Given the description of an element on the screen output the (x, y) to click on. 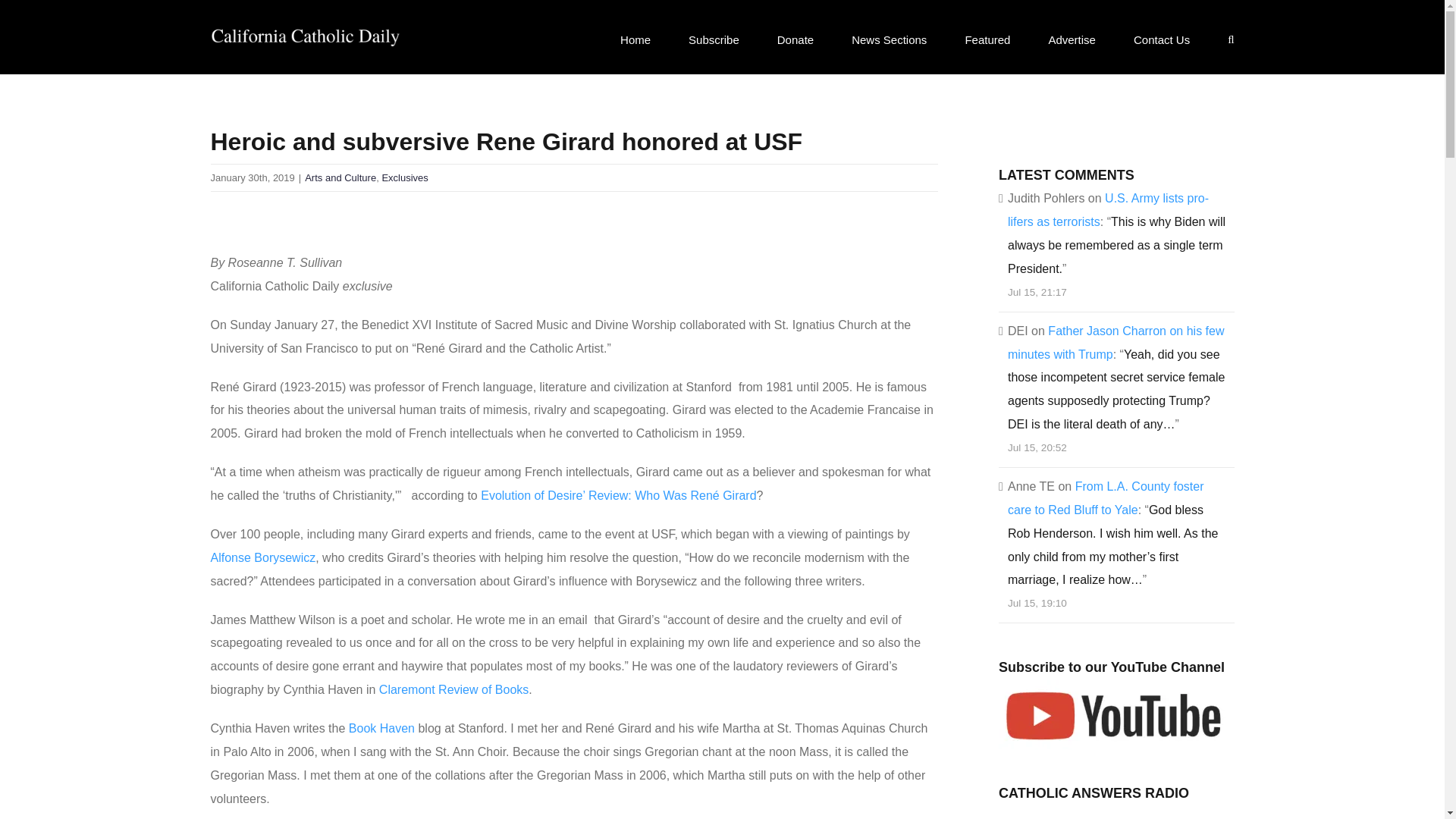
Subscribe to our YouTube Channel (1111, 714)
News Sections (888, 39)
